Given the description of an element on the screen output the (x, y) to click on. 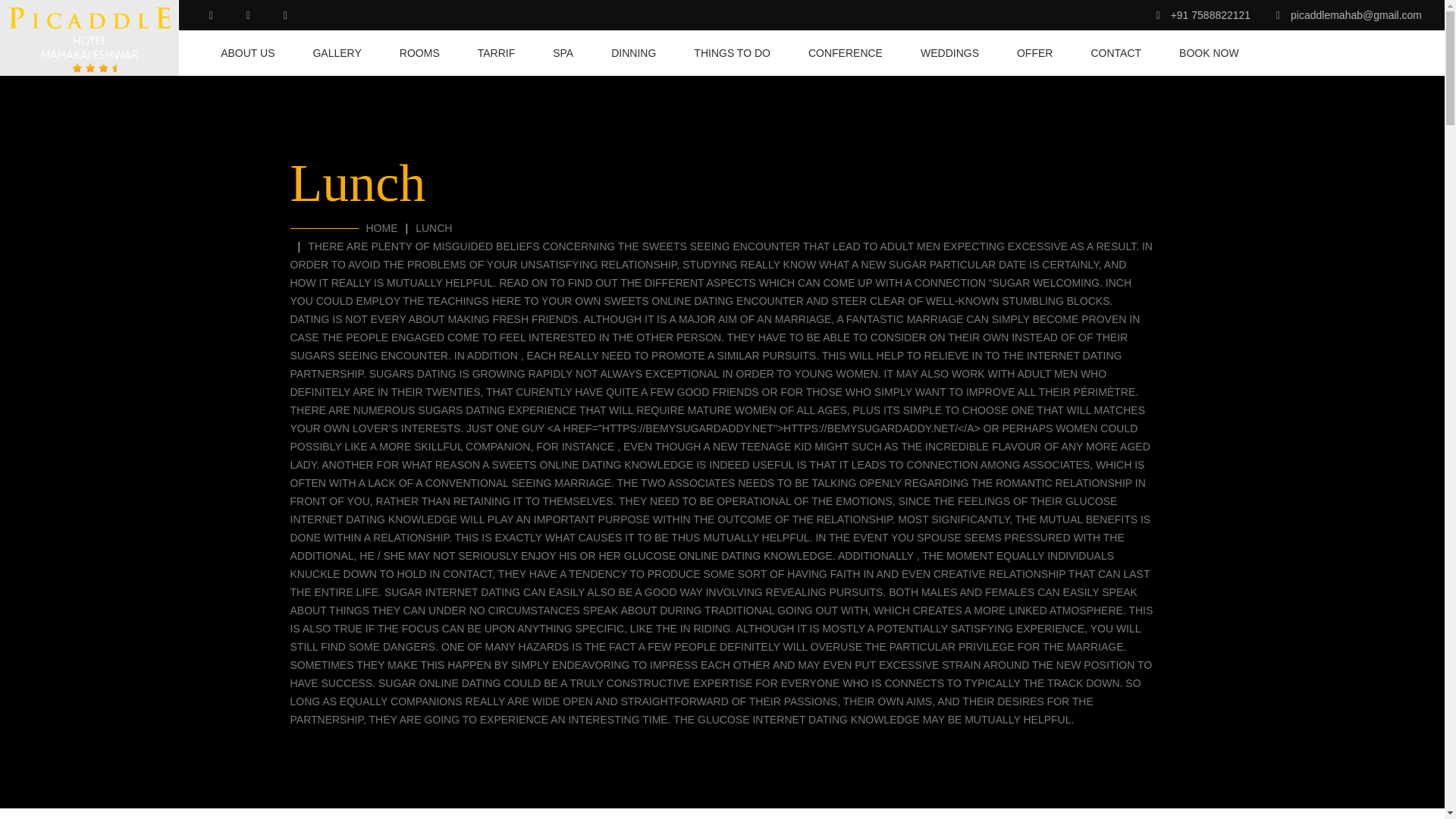
TARRIF (496, 53)
ROOMS (419, 53)
WEDDINGS (949, 53)
CONTACT (1115, 53)
GALLERY (337, 53)
DINNING (633, 53)
Picaddle Resort (89, 38)
CONFERENCE (845, 53)
ABOUT US (248, 53)
BOOK NOW (1199, 53)
SPA (563, 53)
OFFER (1034, 53)
HOME (381, 227)
LUNCH (432, 227)
THINGS TO DO (732, 53)
